Given the description of an element on the screen output the (x, y) to click on. 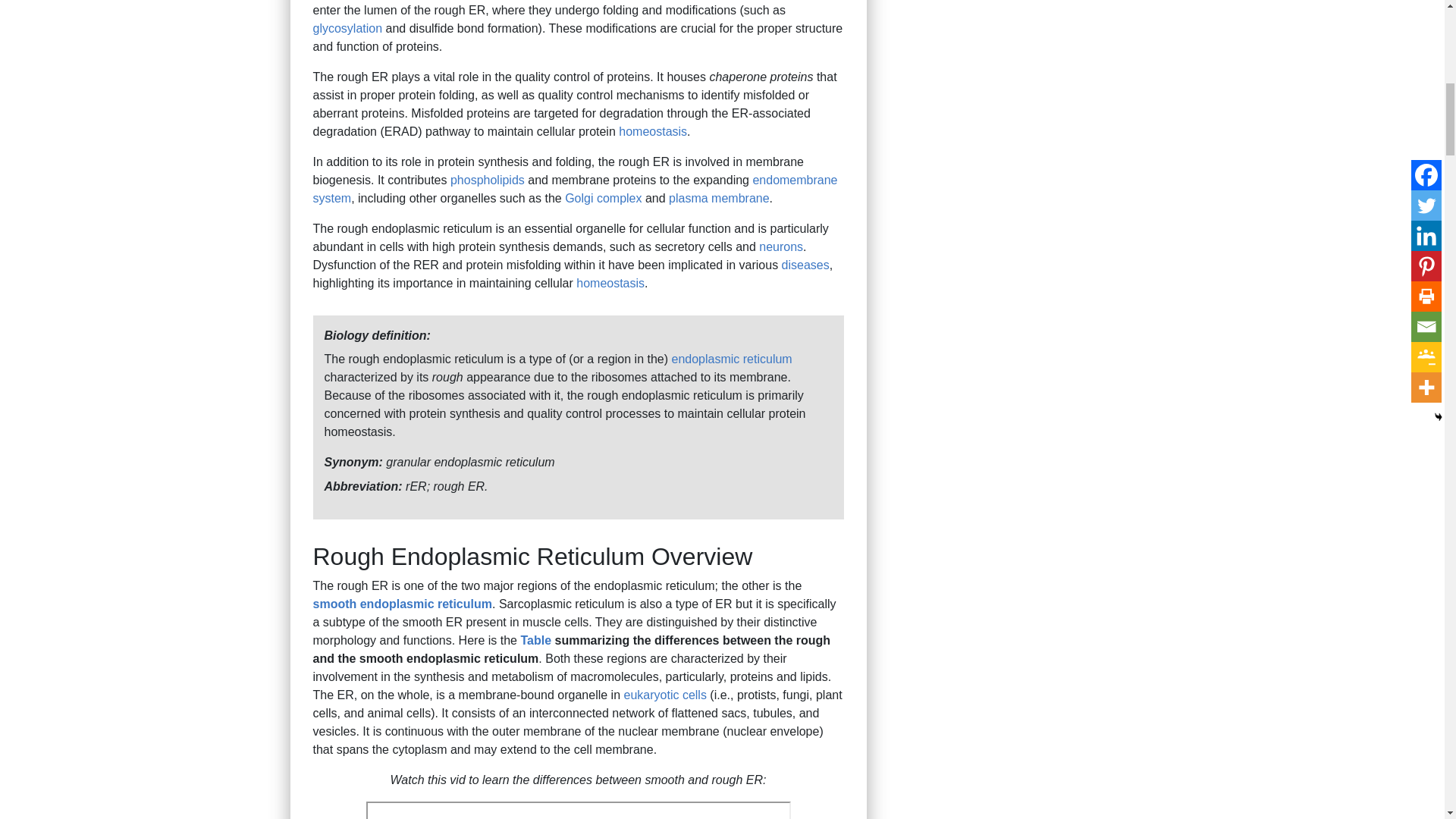
homeostasis (652, 131)
endomembrane system (575, 188)
Golgi complex (603, 197)
plasma membrane (719, 197)
glycosylation (347, 28)
neurons (780, 246)
phospholipids (486, 179)
